Given the description of an element on the screen output the (x, y) to click on. 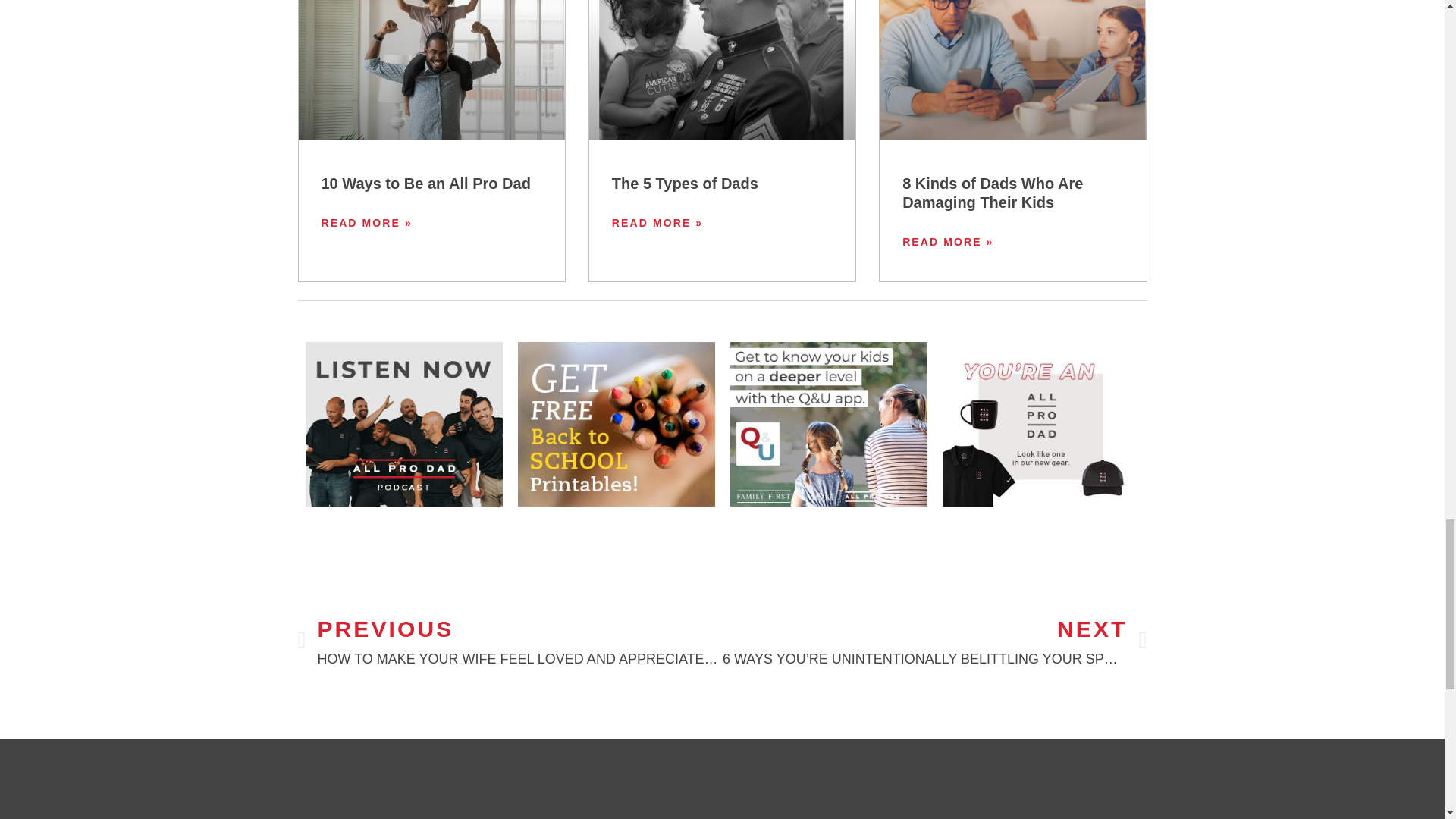
8 Kinds of Dads Who Are Damaging Their Kids (992, 192)
The 5 Types of Dads (684, 183)
10 Ways to Be an All Pro Dad (426, 183)
